Given the description of an element on the screen output the (x, y) to click on. 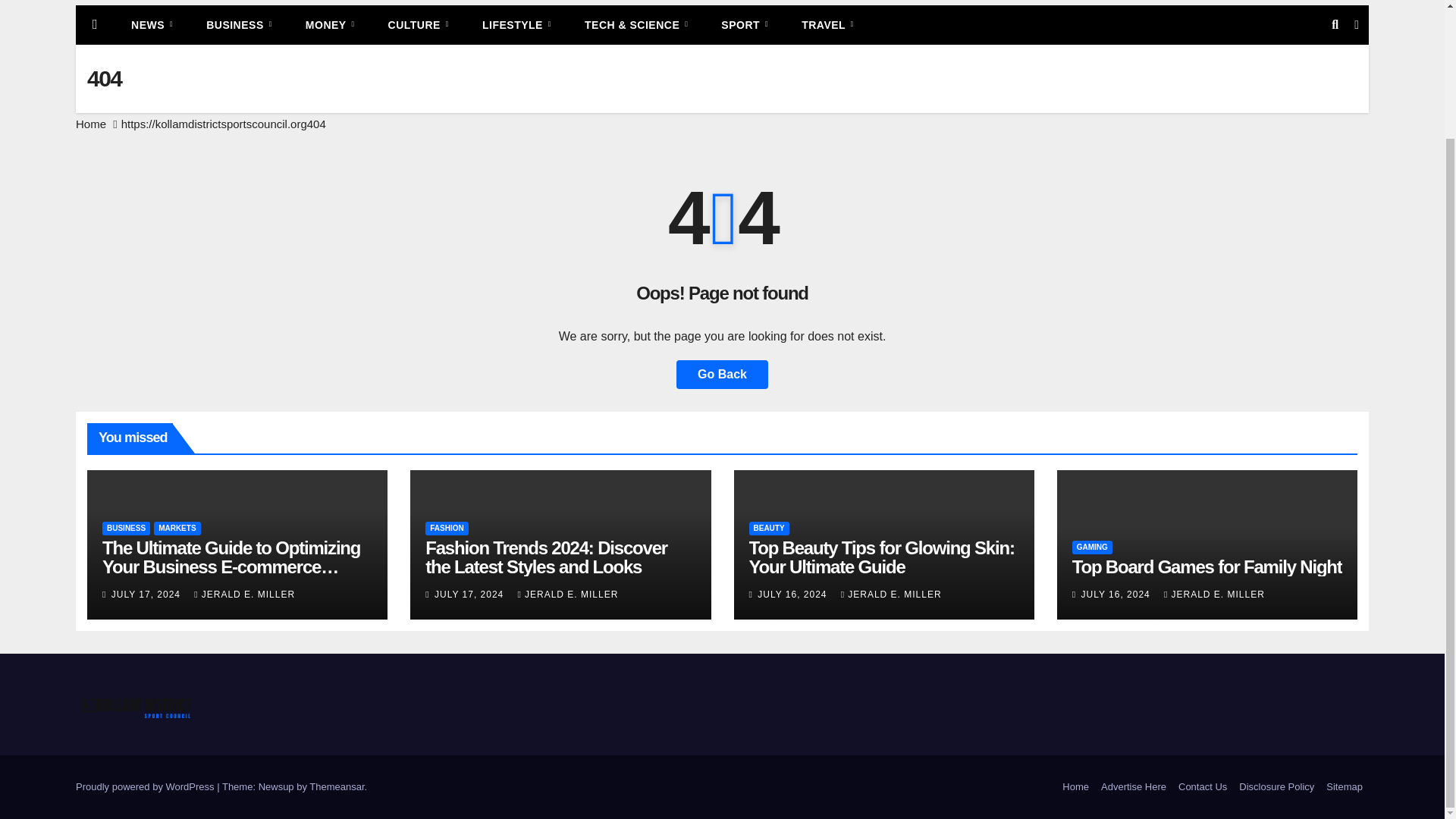
Business (238, 24)
NEWS (152, 24)
MONEY (329, 24)
News (152, 24)
BUSINESS (238, 24)
